Given the description of an element on the screen output the (x, y) to click on. 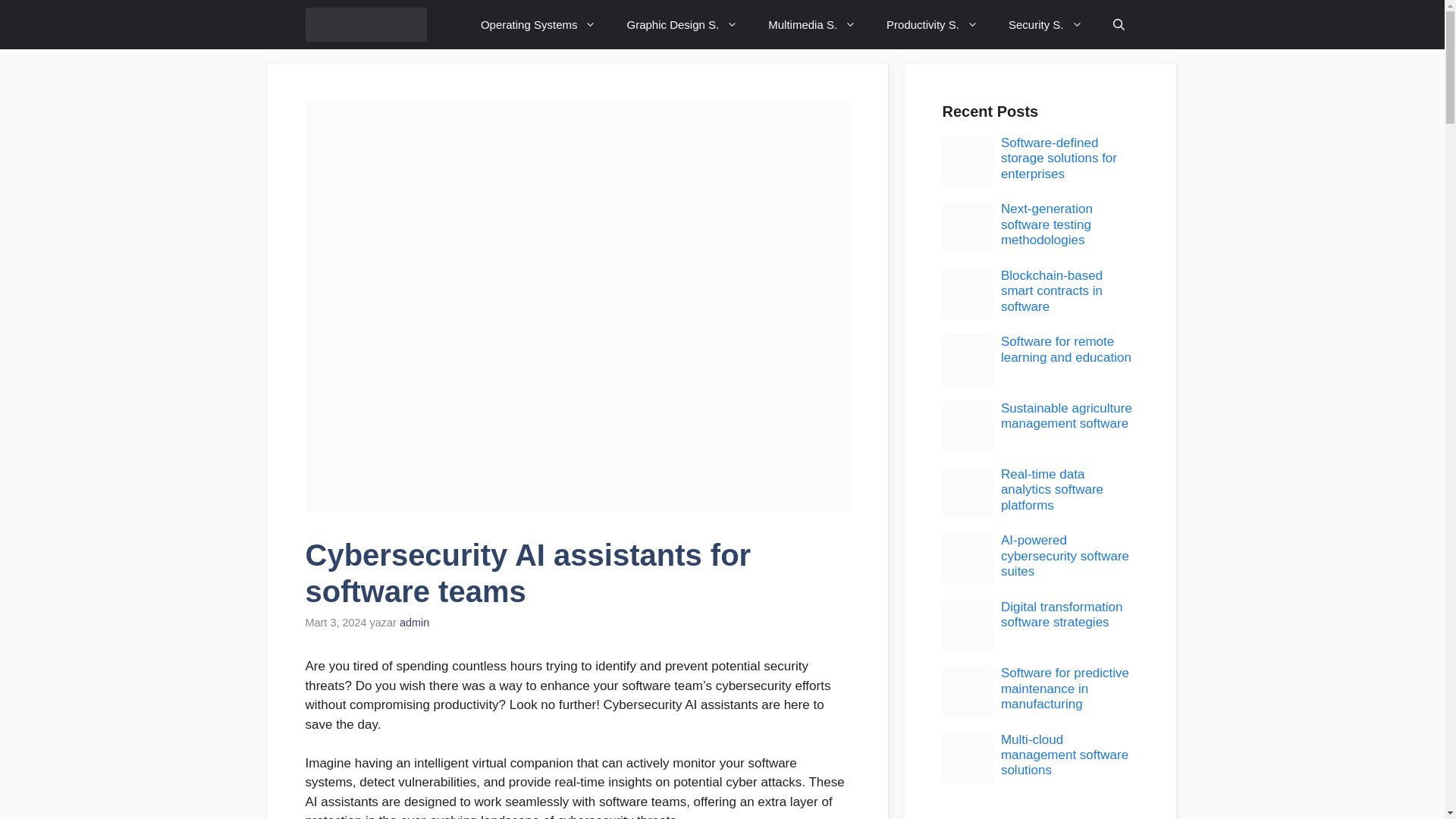
Security S. (1044, 24)
admin (413, 622)
Productivity S. (931, 24)
Operating Systems (538, 24)
Multimedia S. (811, 24)
Graphic Design S. (681, 24)
